Given the description of an element on the screen output the (x, y) to click on. 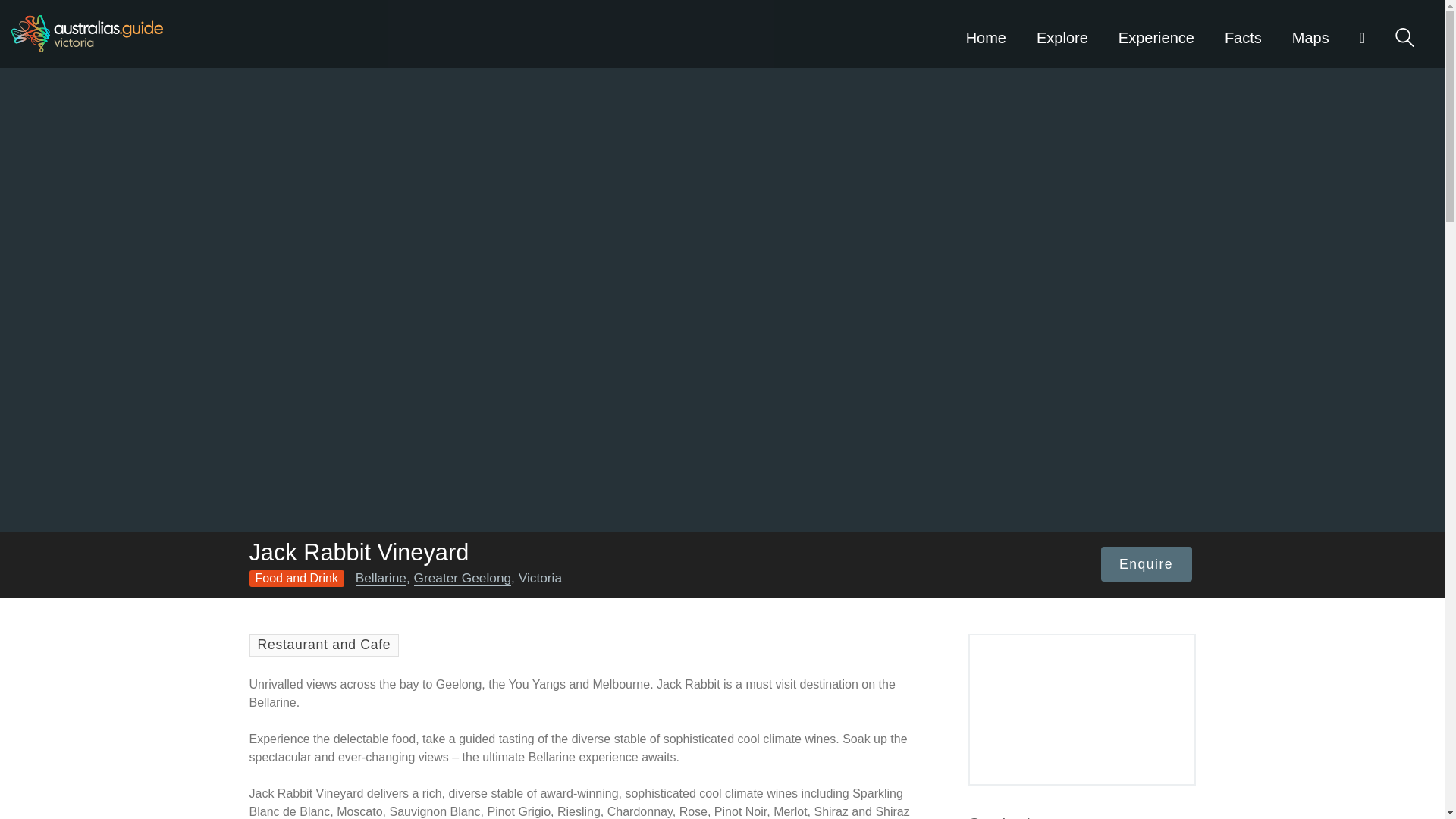
Greater Geelong (462, 578)
Search (1403, 36)
Experience (1155, 33)
Food and Drink (295, 578)
Enquire (1146, 564)
Bellarine (380, 578)
